Given the description of an element on the screen output the (x, y) to click on. 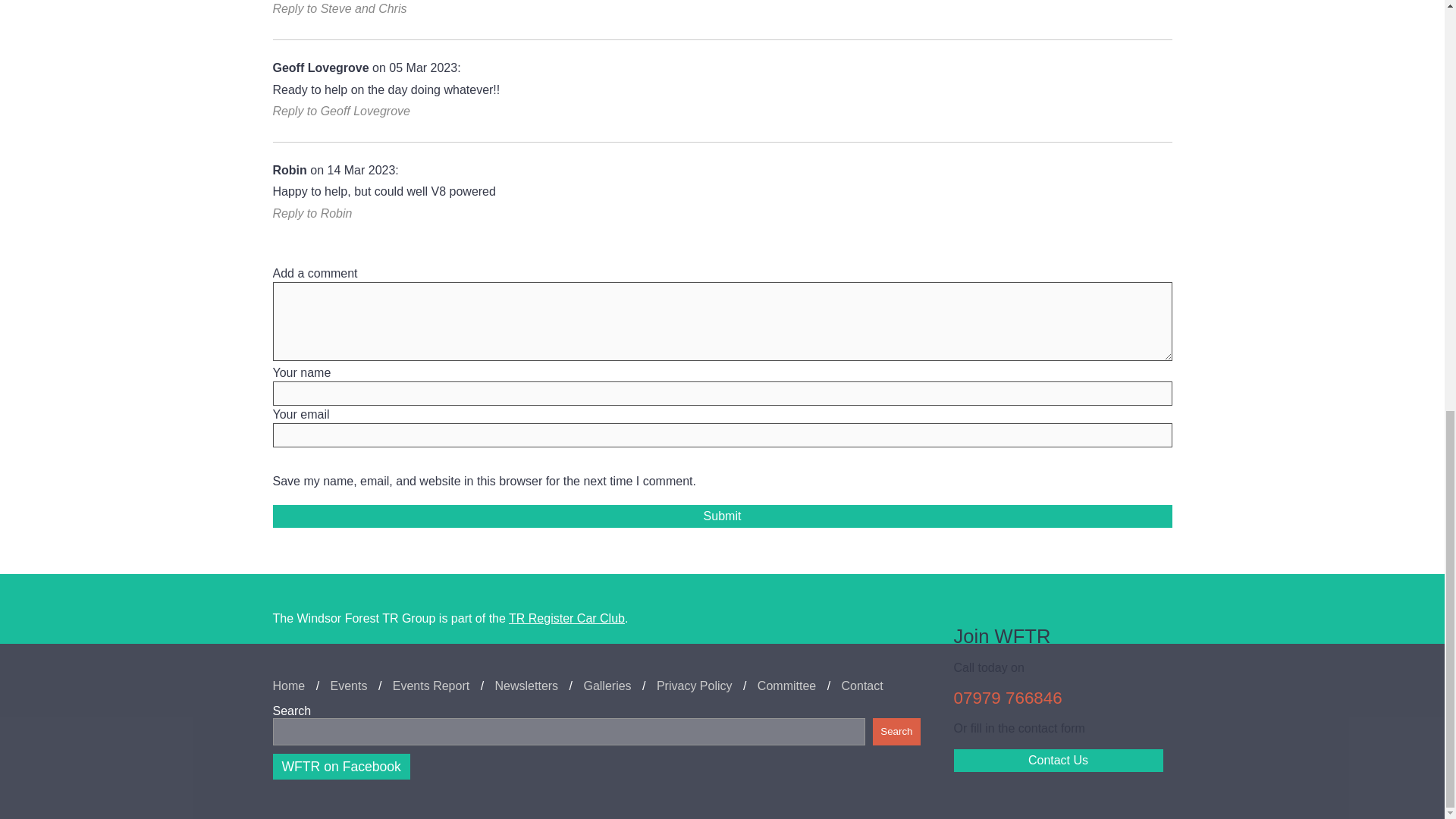
Contact Us (1058, 760)
Contact (862, 686)
Search (896, 731)
Reply to Steve and Chris (340, 8)
WFTR on Facebook (341, 766)
Submit (722, 516)
Events (349, 686)
Newsletters (527, 686)
Events Report (430, 686)
